Given the description of an element on the screen output the (x, y) to click on. 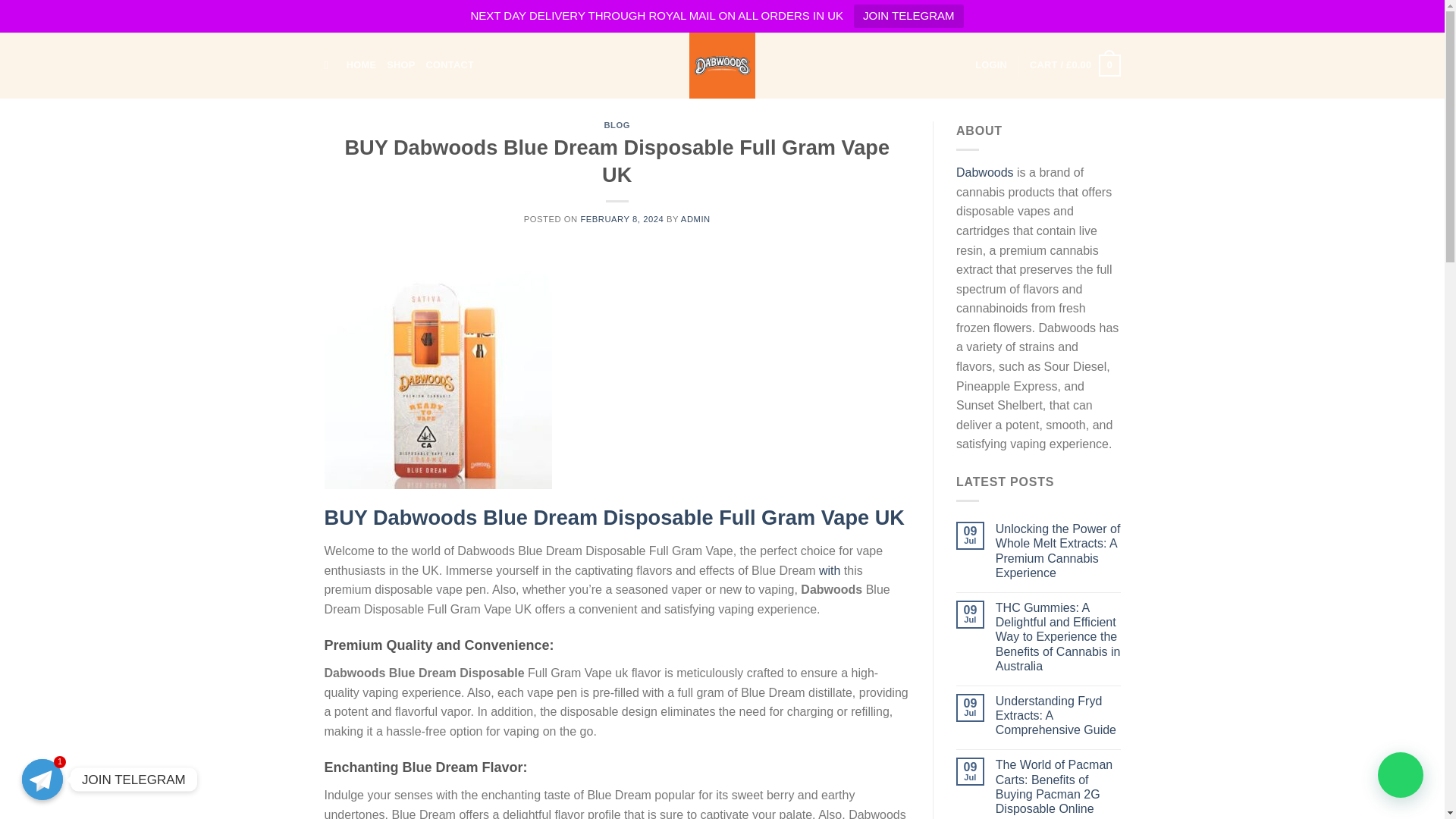
Understanding Fryd Extracts: A Comprehensive Guide (1058, 715)
JOIN TELEGRAM (908, 15)
FEBRUARY 8, 2024 (621, 218)
Dabwoods disposables uk (721, 65)
with (829, 570)
BLOG (617, 124)
SHOP (400, 64)
ADMIN (695, 218)
LOGIN (991, 64)
Cart (1074, 65)
BUY Dabwoods Blue Dream Disposable Full Gram Vape UK (614, 517)
